Given the description of an element on the screen output the (x, y) to click on. 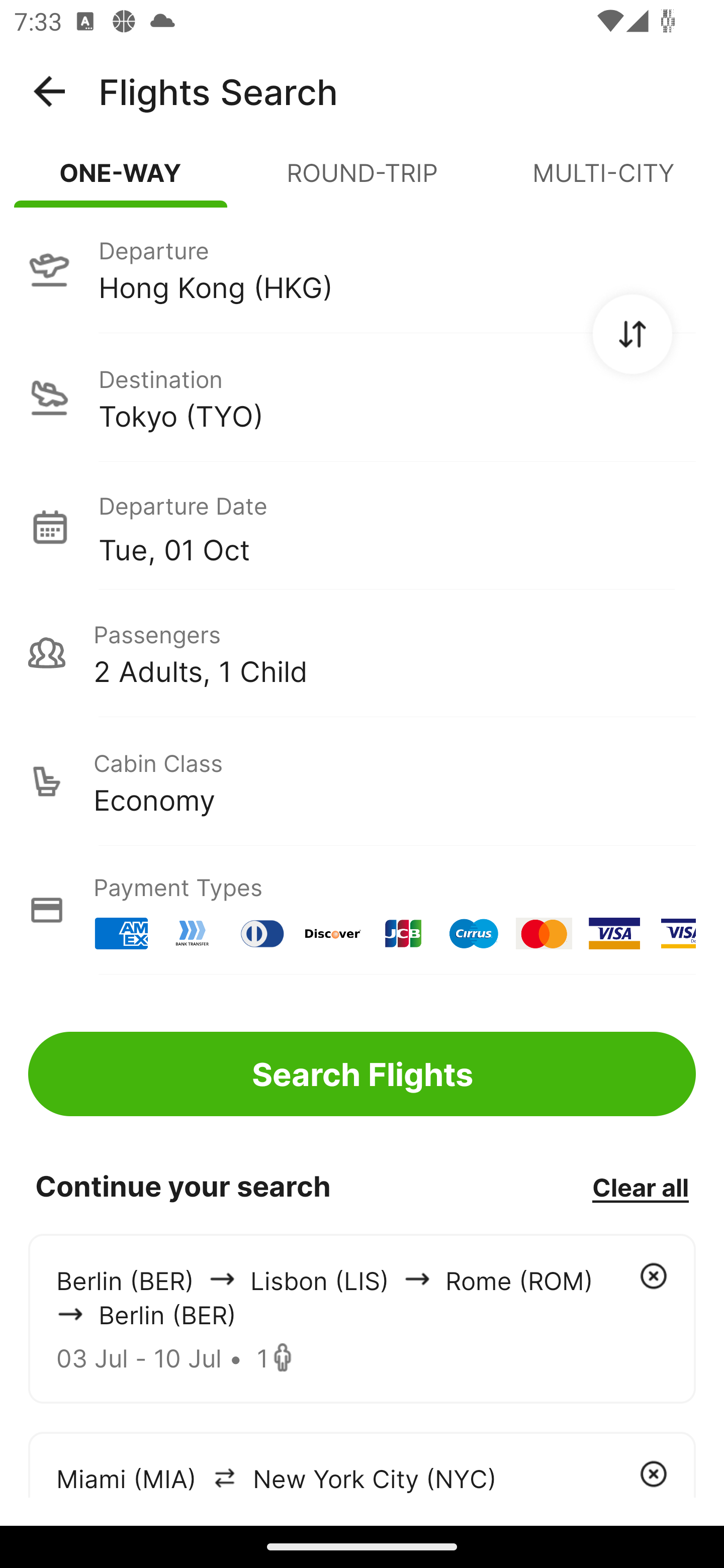
ONE-WAY (120, 180)
ROUND-TRIP (361, 180)
MULTI-CITY (603, 180)
Departure Hong Kong (HKG) (362, 269)
Destination Tokyo (TYO) (362, 396)
Departure Date Tue, 01 Oct (396, 525)
Passengers 2 Adults, 1 Child (362, 652)
Cabin Class Economy (362, 781)
Payment Types (362, 909)
Search Flights (361, 1073)
Clear all (640, 1186)
Miami (MIA)  arrowIcon  New York City (NYC) (361, 1464)
